Given the description of an element on the screen output the (x, y) to click on. 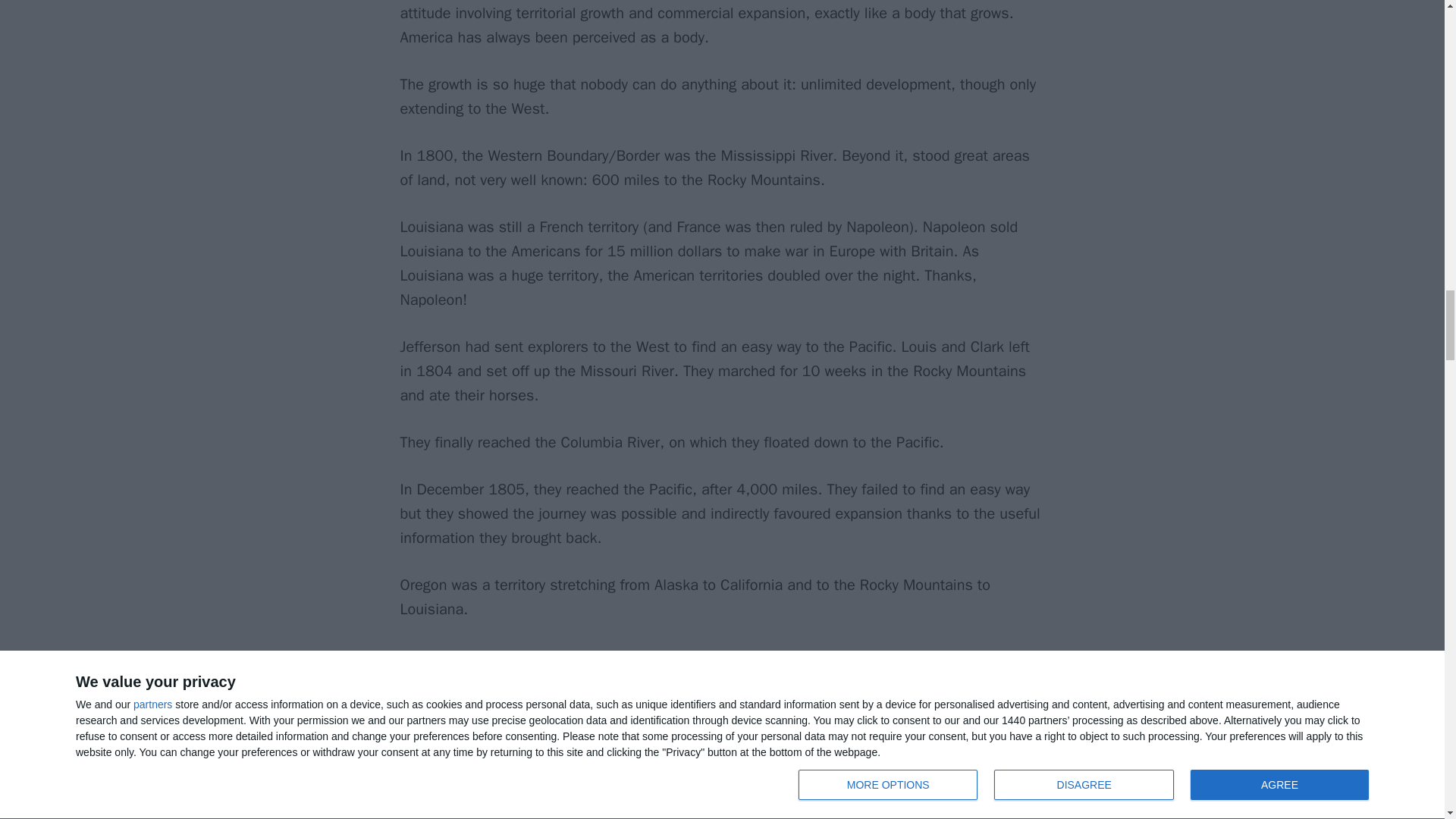
America: West to the Pacific (454, 759)
Lire la suite (454, 759)
